Given the description of an element on the screen output the (x, y) to click on. 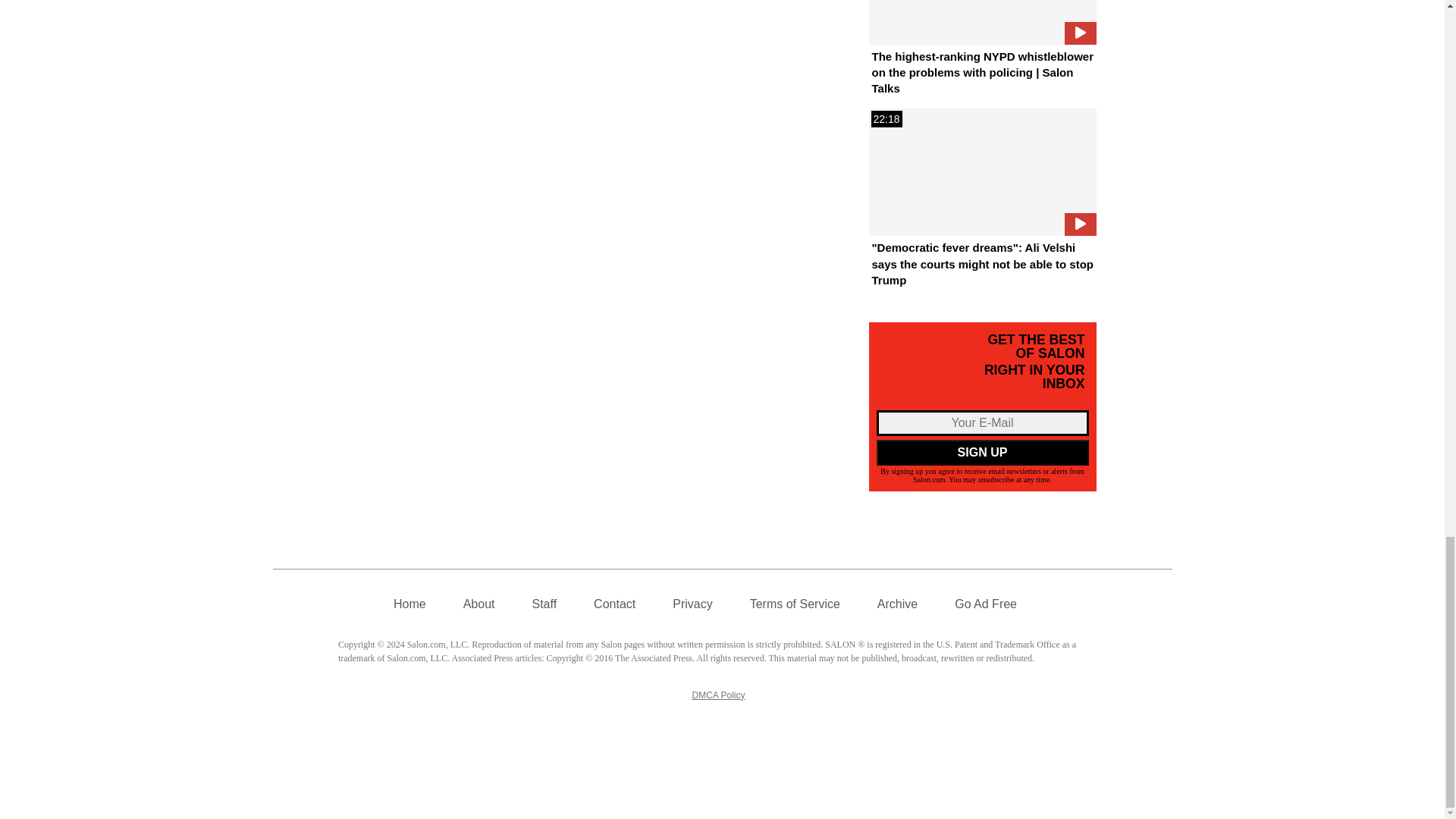
SIGN UP (982, 452)
